Given the description of an element on the screen output the (x, y) to click on. 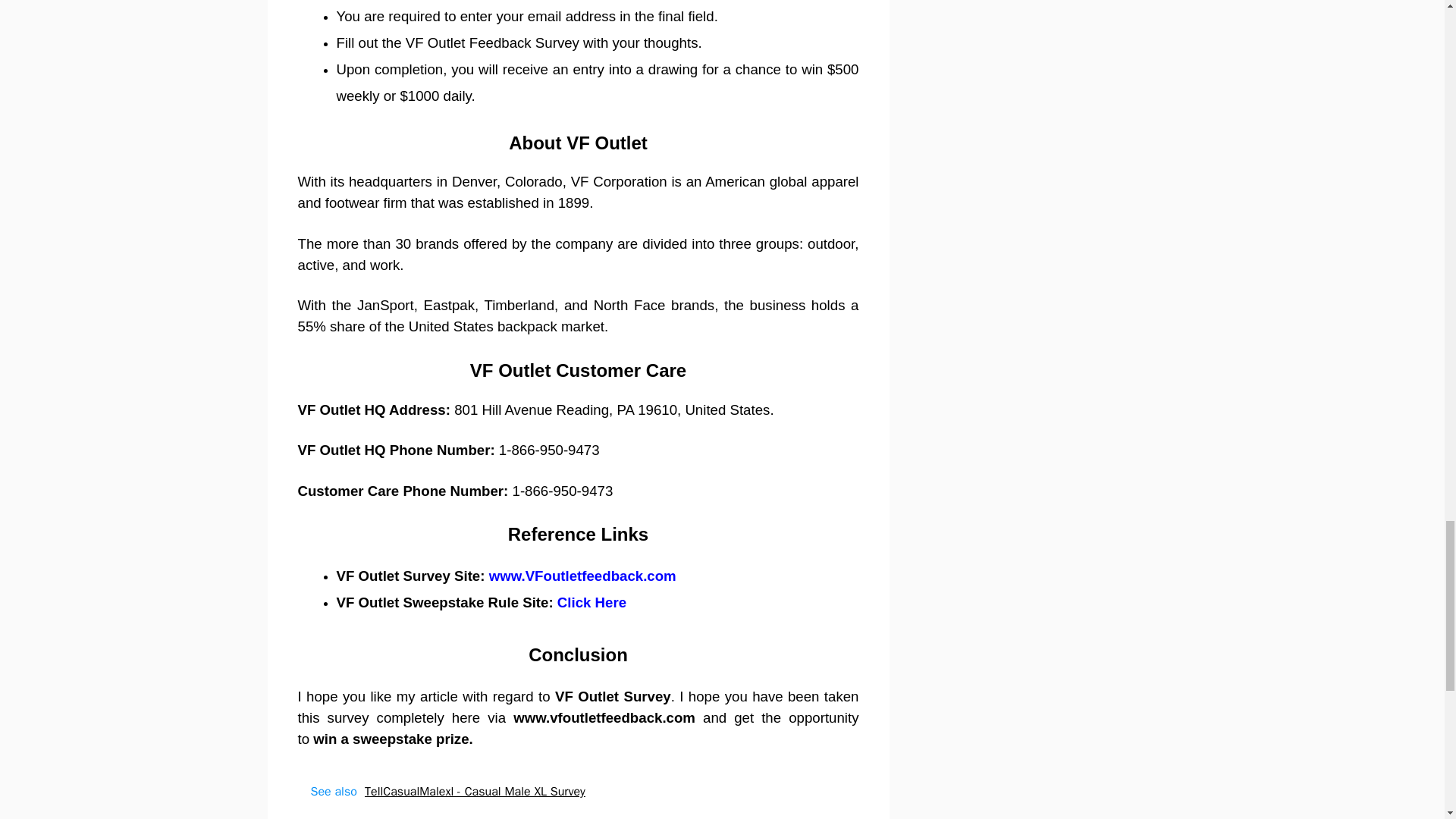
www.VFoutletfeedback.com (583, 575)
Click Here (591, 602)
See also  TellCasualMalexl - Casual Male XL Survey (578, 791)
